Given the description of an element on the screen output the (x, y) to click on. 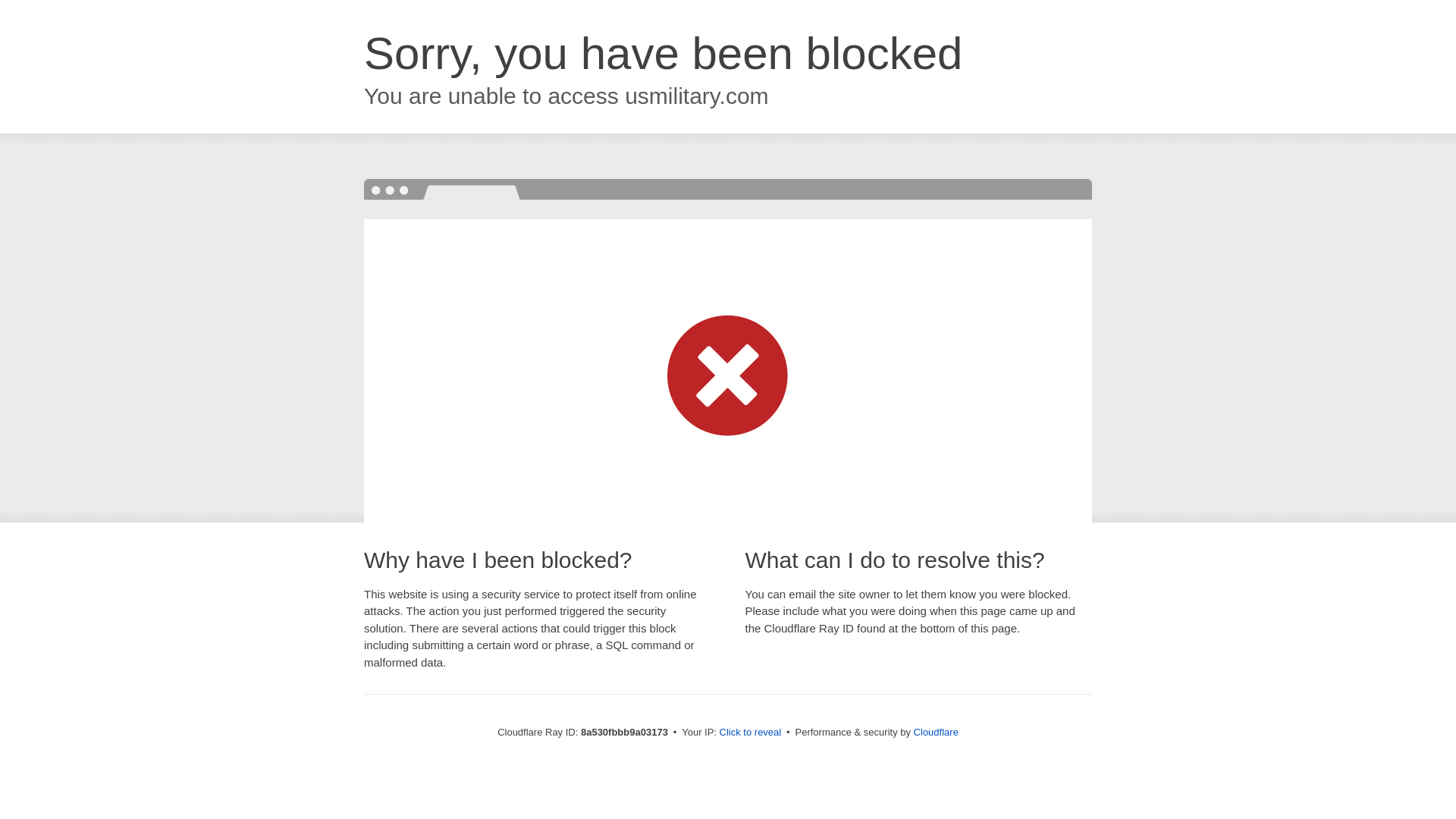
Cloudflare (936, 731)
Click to reveal (750, 732)
